Given the description of an element on the screen output the (x, y) to click on. 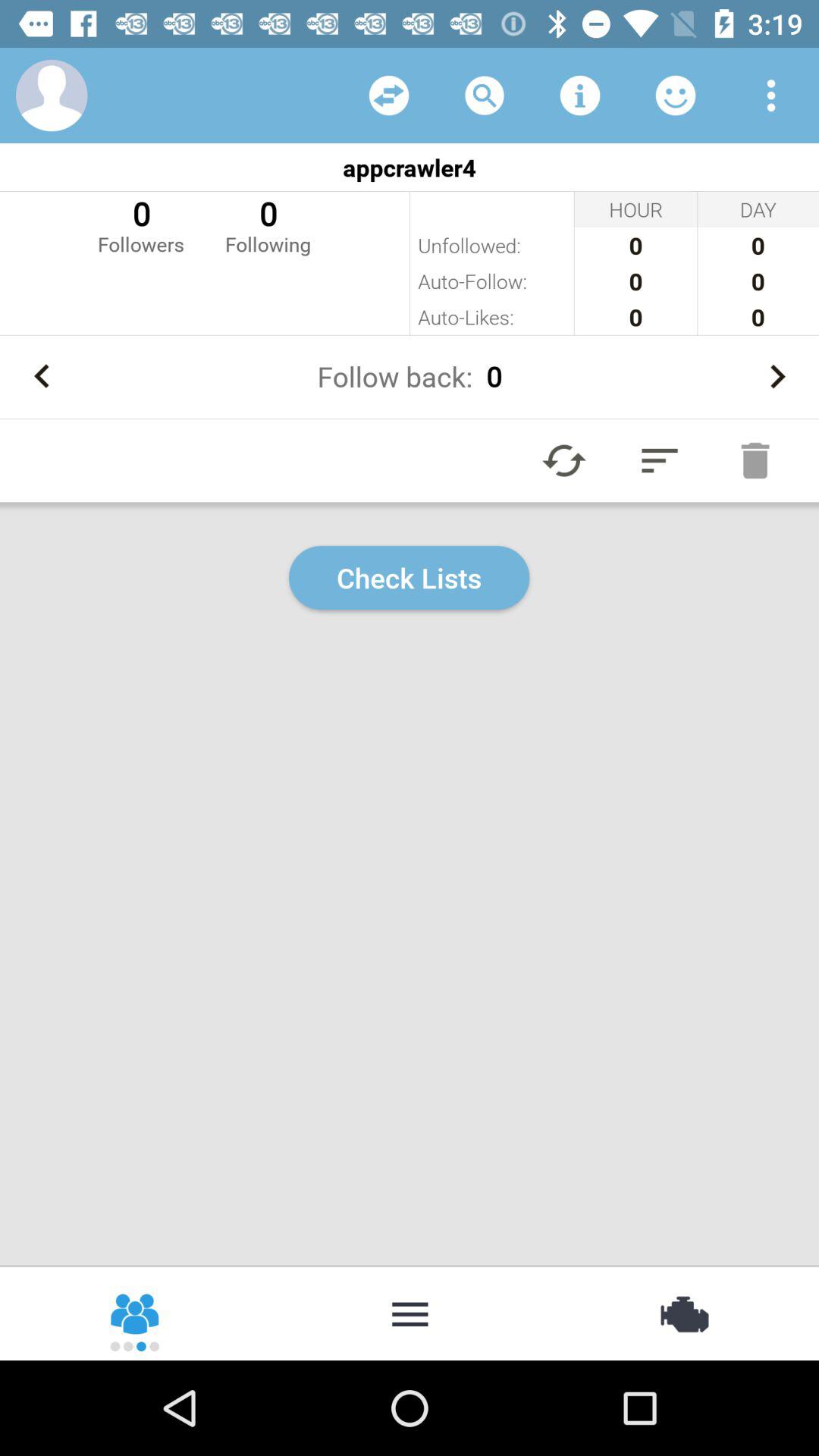
turn off icon above appcrawler4 item (484, 95)
